Given the description of an element on the screen output the (x, y) to click on. 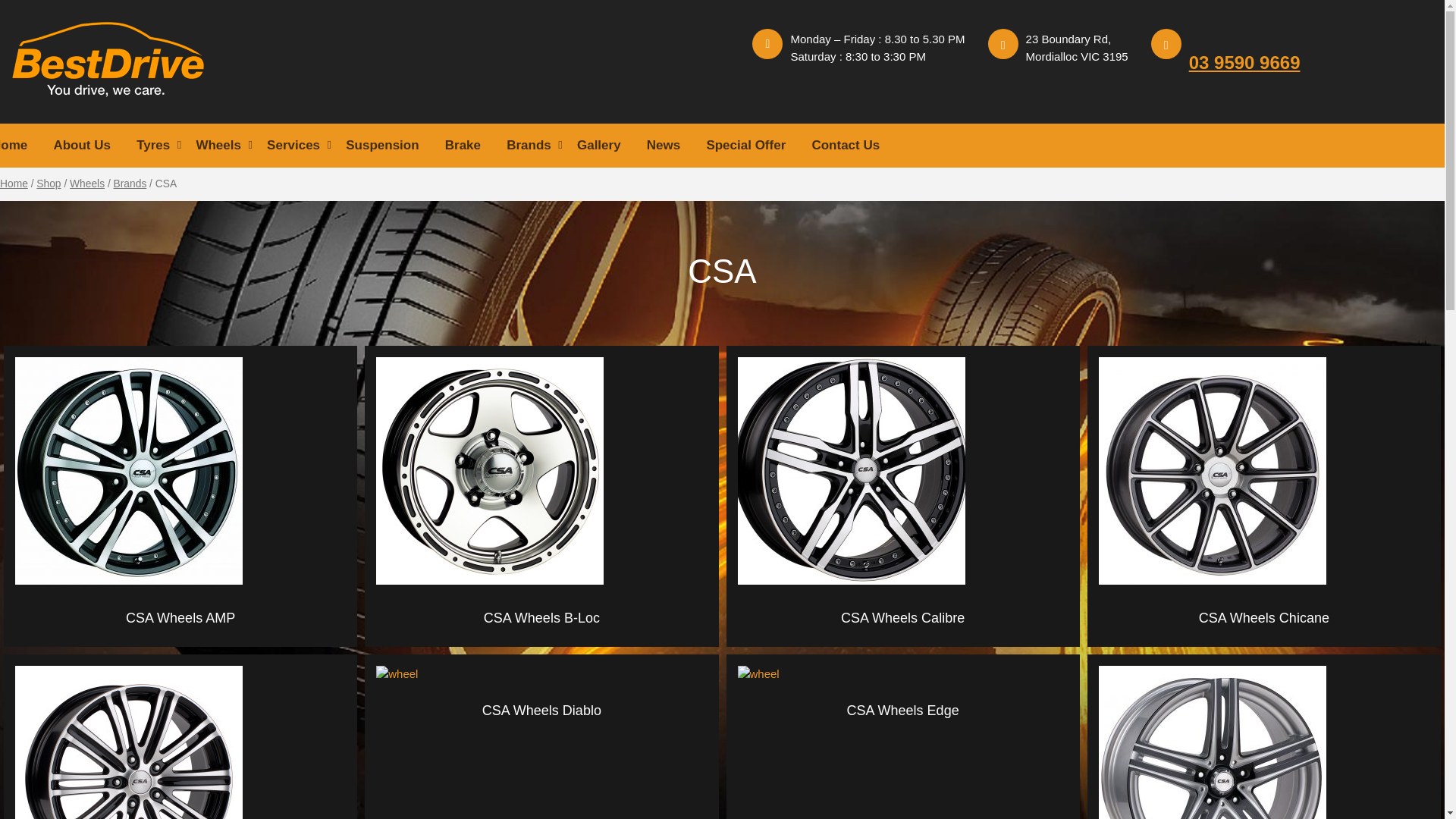
CSA Wheels Calibre Element type: text (902, 610)
Brands Element type: text (130, 182)
Brake Element type: text (462, 145)
Wheels Element type: text (218, 145)
CSA Wheels Diablo Element type: text (541, 697)
Wheels Element type: text (86, 182)
Home Element type: text (14, 182)
CSA Wheels Chicane Element type: text (1263, 610)
Suspension Element type: text (381, 145)
CSA Wheels Edge Element type: text (902, 697)
About Us Element type: text (81, 145)
Tyres Element type: text (152, 145)
Brands Element type: text (528, 145)
News Element type: text (663, 145)
Gallery Element type: text (599, 145)
CSA Wheels AMP Element type: text (180, 610)
Shop Element type: text (48, 182)
Contact Us Element type: text (845, 145)
Special Offer Element type: text (745, 145)
CSA Wheels B-Loc Element type: text (541, 610)
03 9590 9669 Element type: text (1244, 62)
Services Element type: text (293, 145)
